Given the description of an element on the screen output the (x, y) to click on. 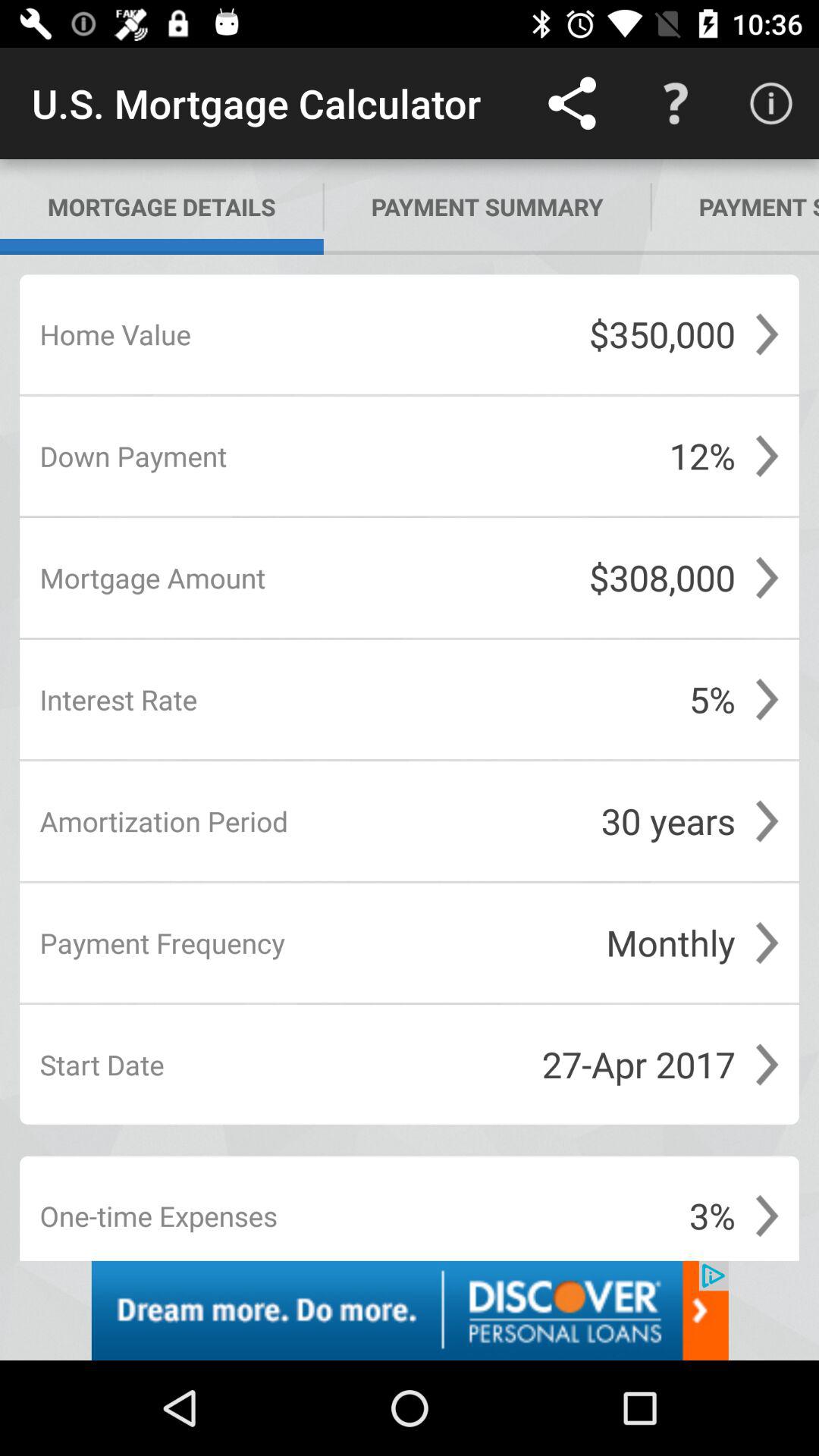
advertisement (409, 1310)
